Given the description of an element on the screen output the (x, y) to click on. 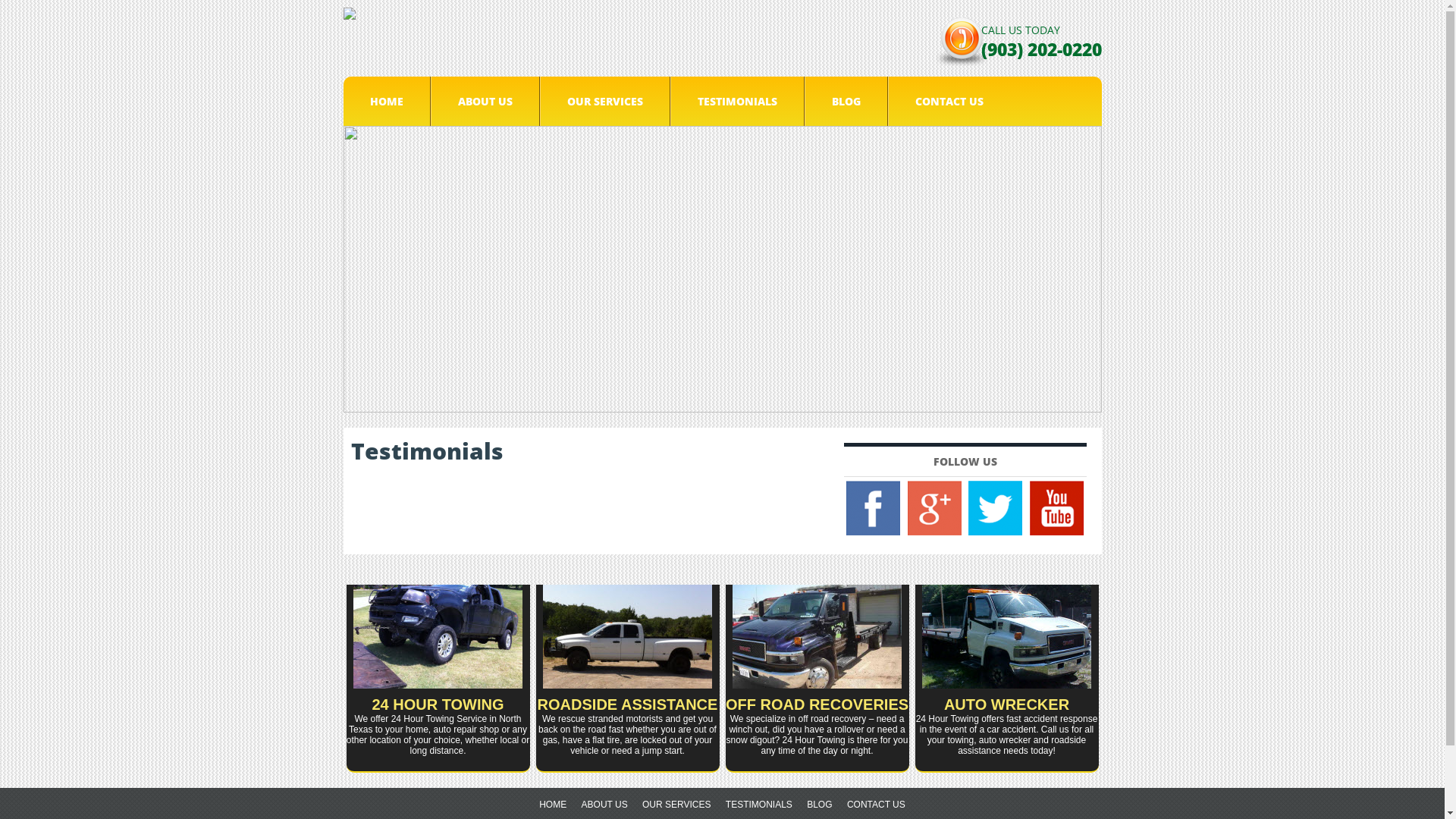
OUR SERVICES Element type: text (676, 804)
CONTACT US Element type: text (876, 804)
ABOUT US Element type: text (604, 804)
BLOG Element type: text (845, 101)
CONTACT US Element type: text (948, 101)
TESTIMONIALS Element type: text (737, 101)
ABOUT US Element type: text (485, 101)
BLOG Element type: text (818, 804)
TESTIMONIALS Element type: text (758, 804)
Testimonials Element type: text (426, 450)
HOME Element type: text (386, 101)
OUR SERVICES Element type: text (605, 101)
HOME Element type: text (552, 804)
